Given the description of an element on the screen output the (x, y) to click on. 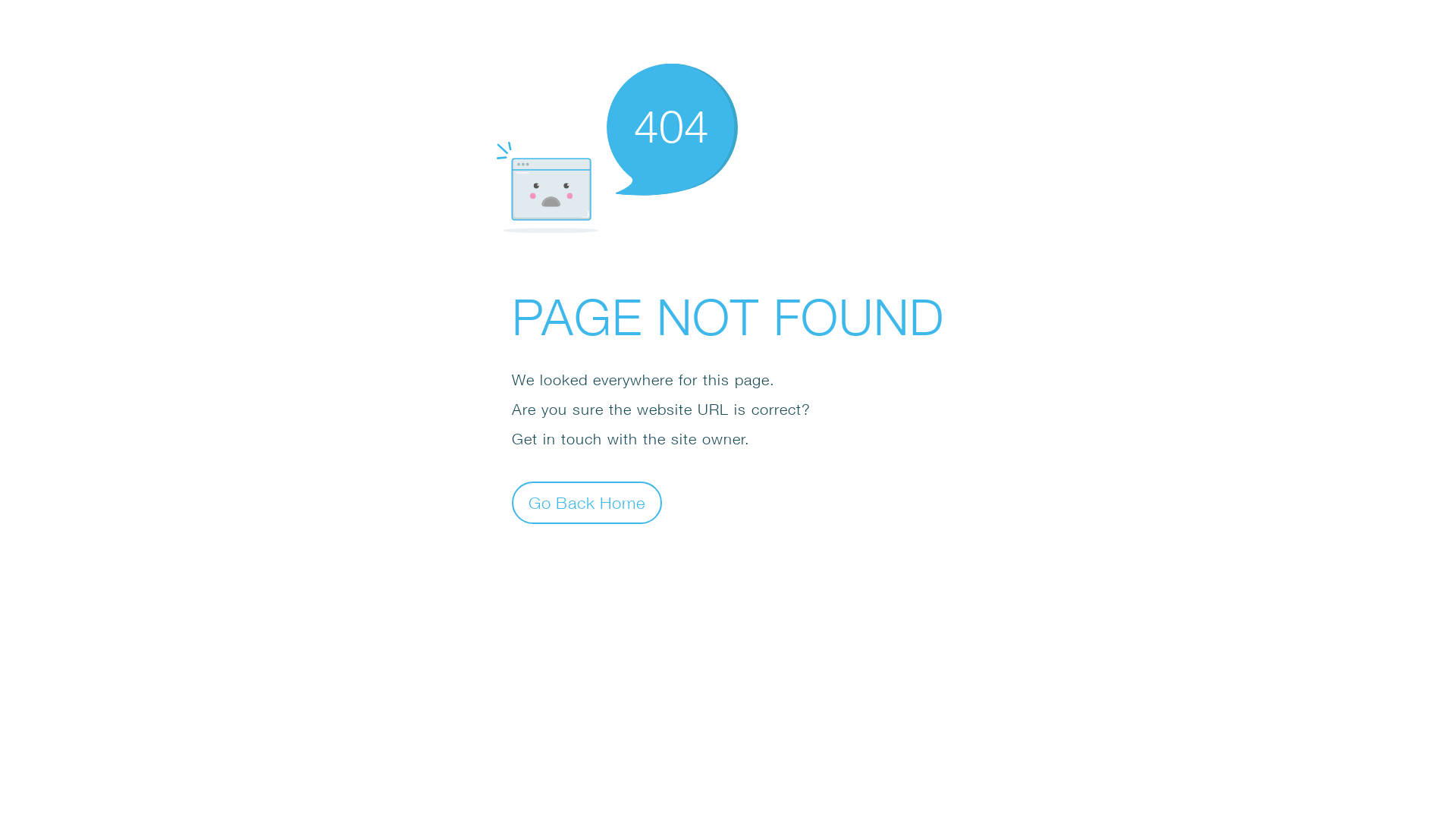
Go Back Home Element type: text (586, 502)
